Given the description of an element on the screen output the (x, y) to click on. 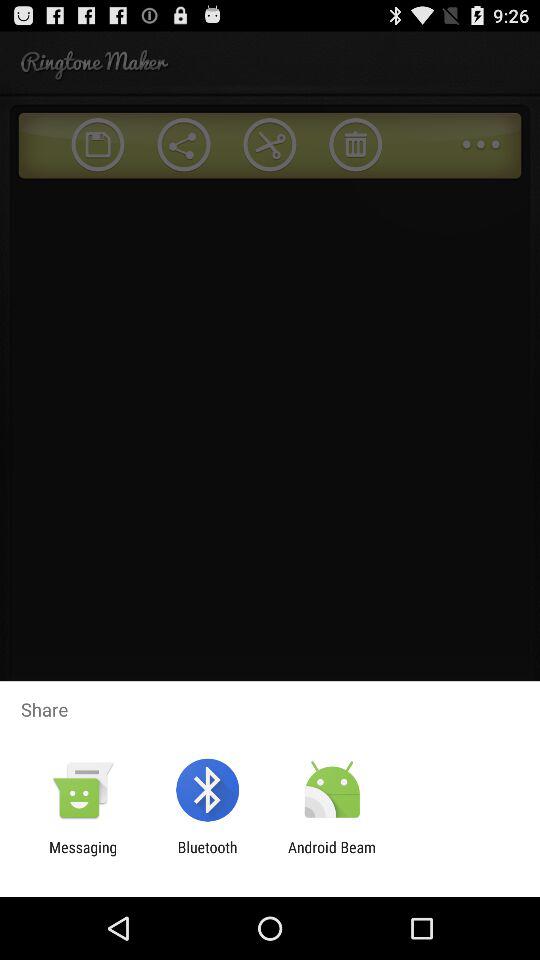
flip until the bluetooth app (207, 856)
